Given the description of an element on the screen output the (x, y) to click on. 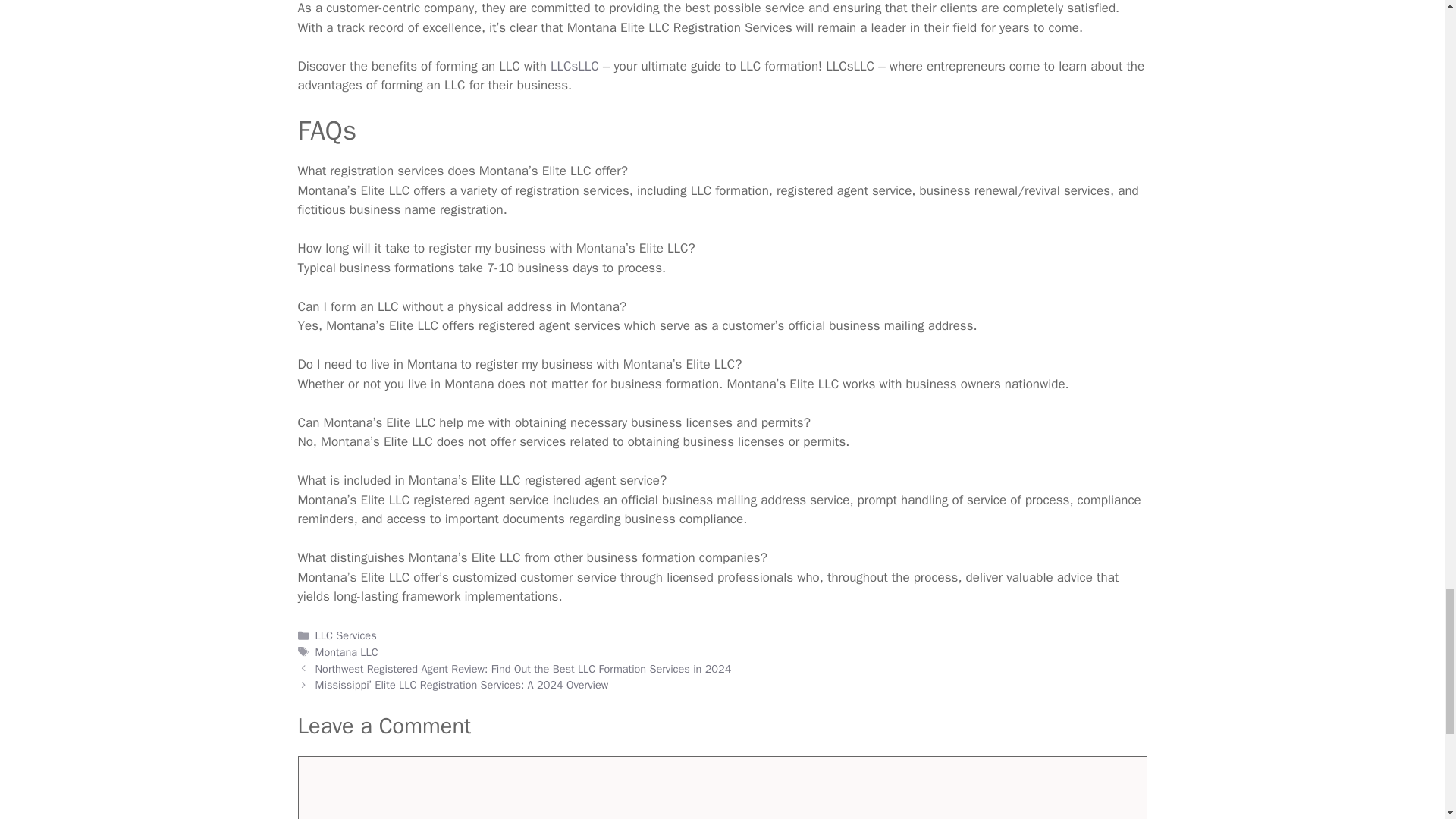
LLCsLLC (574, 65)
LLC Services (346, 635)
Montana LLC (346, 652)
LLCsLLC (574, 65)
